Given the description of an element on the screen output the (x, y) to click on. 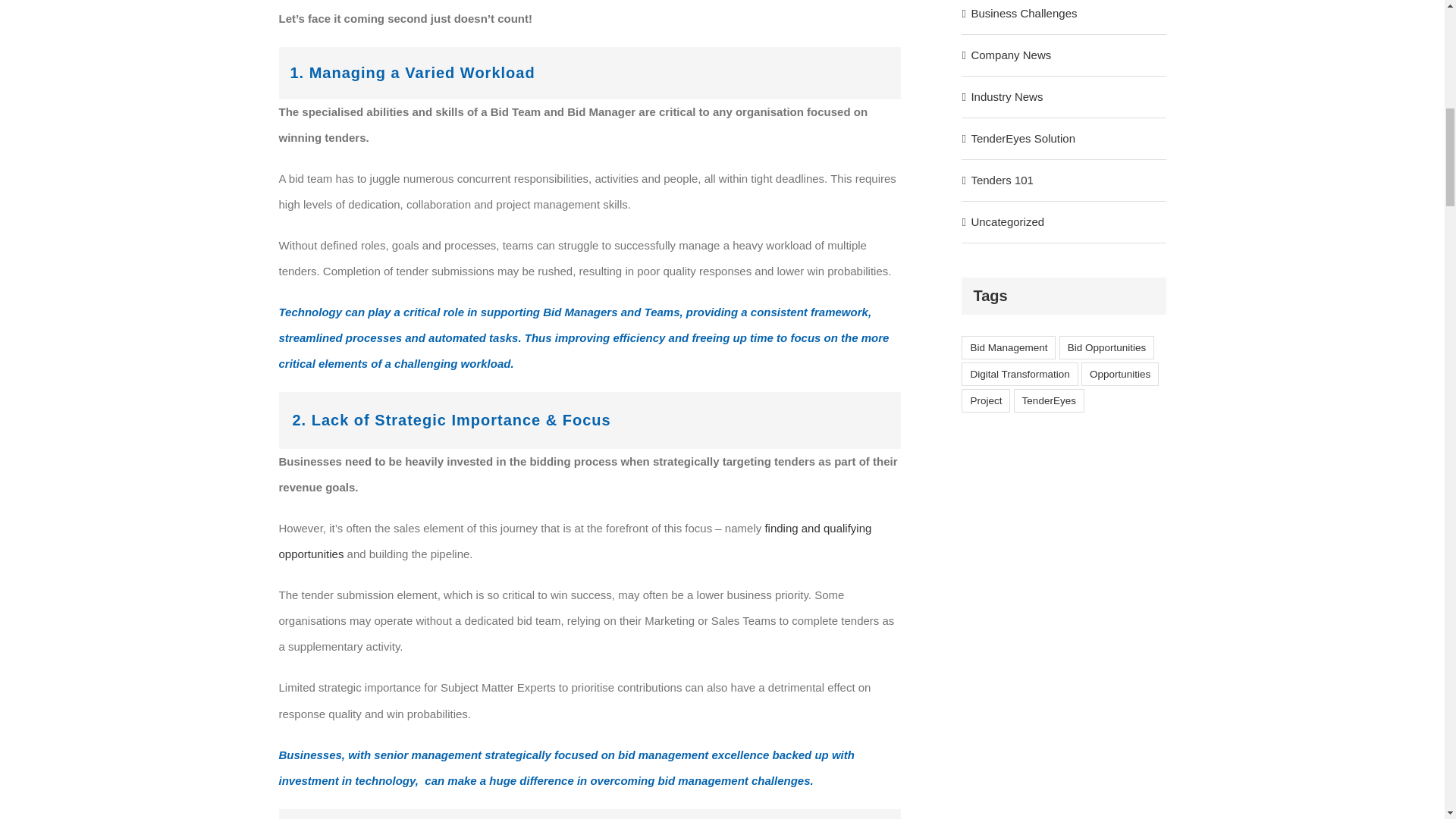
3. Pressurised Time Constraints (590, 814)
1. Managing a Varied Workload (590, 72)
